Given the description of an element on the screen output the (x, y) to click on. 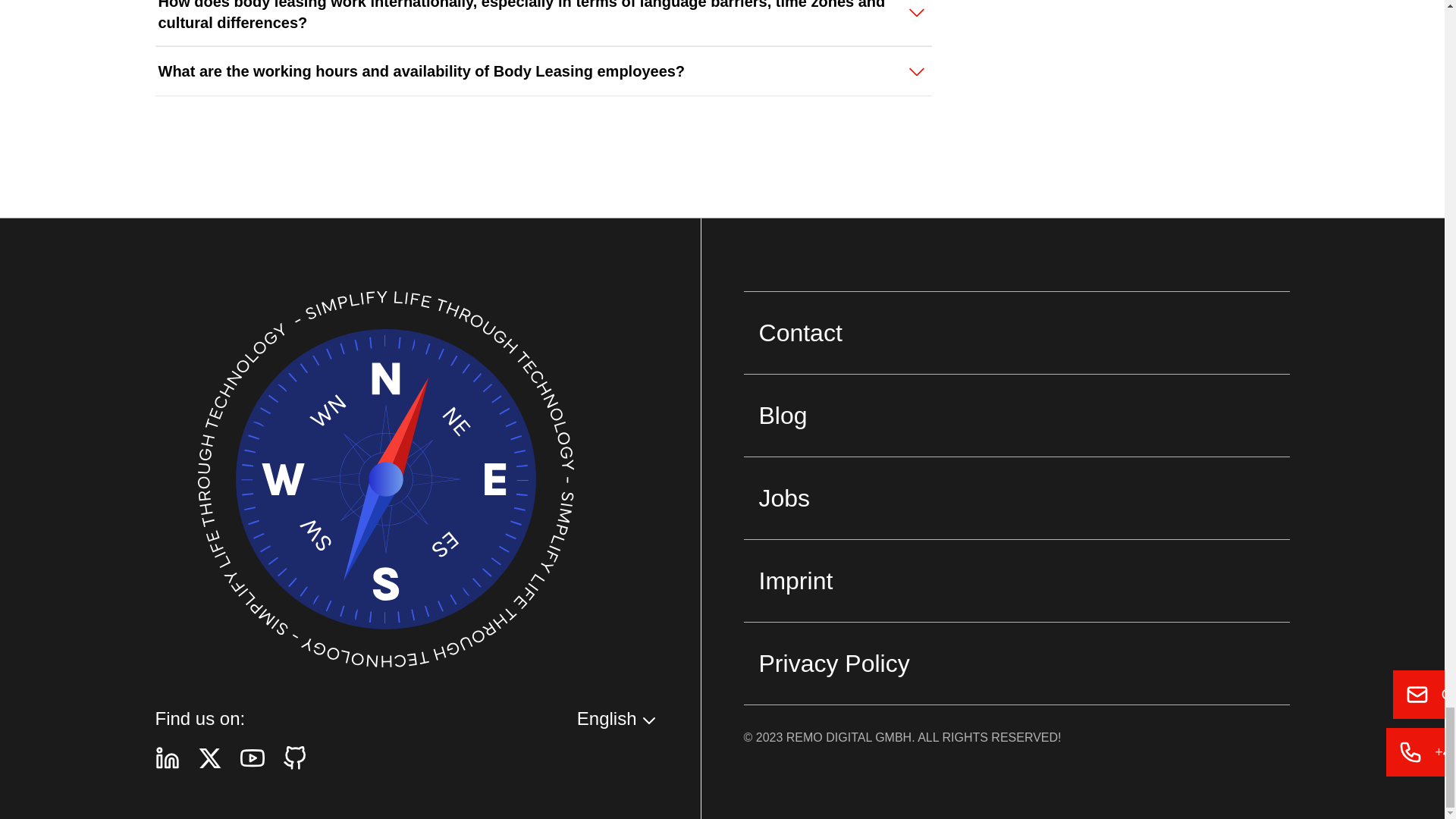
Privacy Policy (1017, 663)
Contact (1017, 332)
privacy policy Dewave (1017, 663)
blog (1017, 414)
YouTube Remo Digital (251, 758)
LinkedIn Dewave (166, 758)
Jobs (1017, 497)
Imprint (1017, 579)
twitter (208, 758)
